Given the description of an element on the screen output the (x, y) to click on. 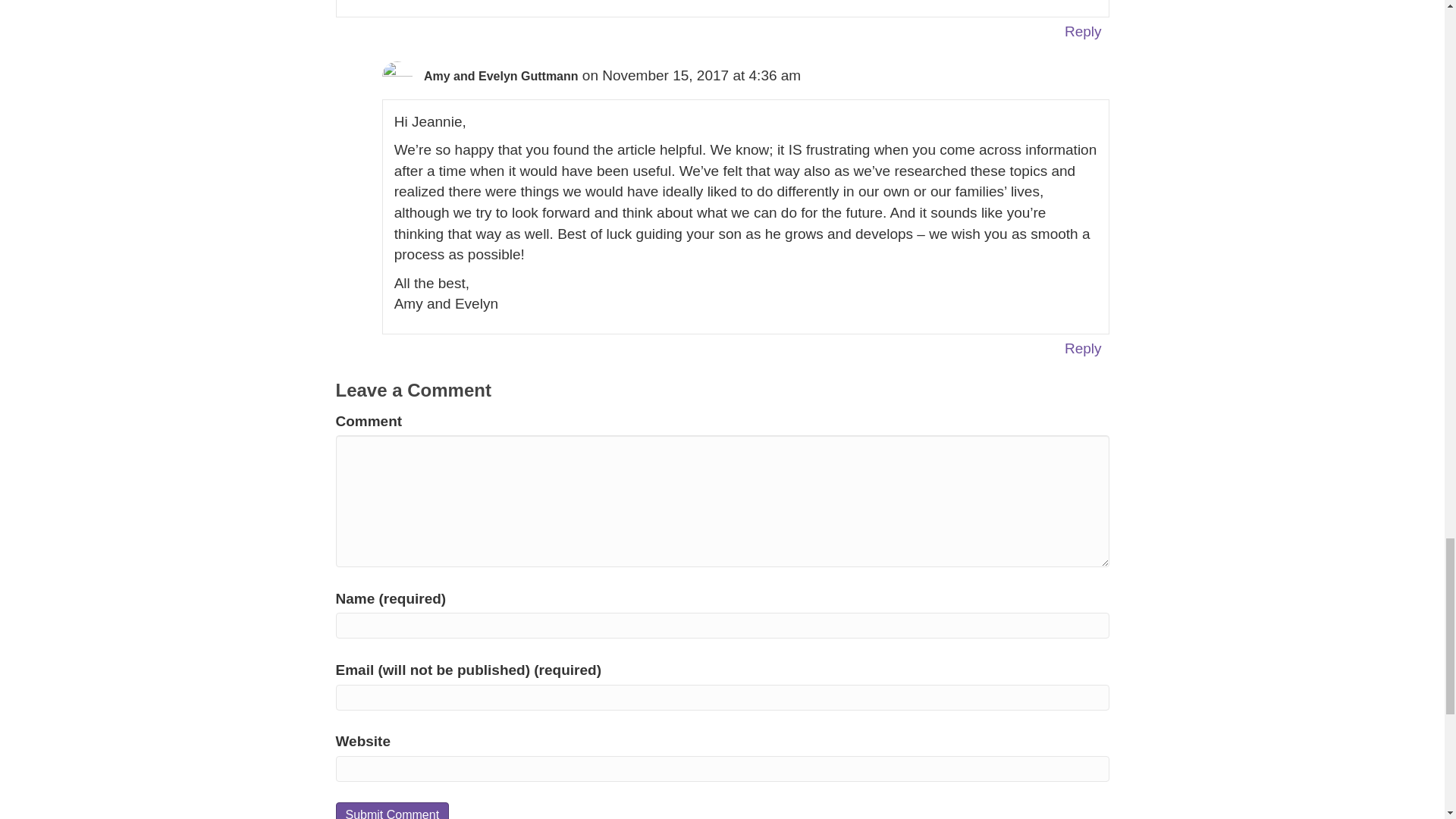
Reply (1083, 31)
Submit Comment (391, 810)
Reply (1083, 348)
Submit Comment (391, 810)
